Given the description of an element on the screen output the (x, y) to click on. 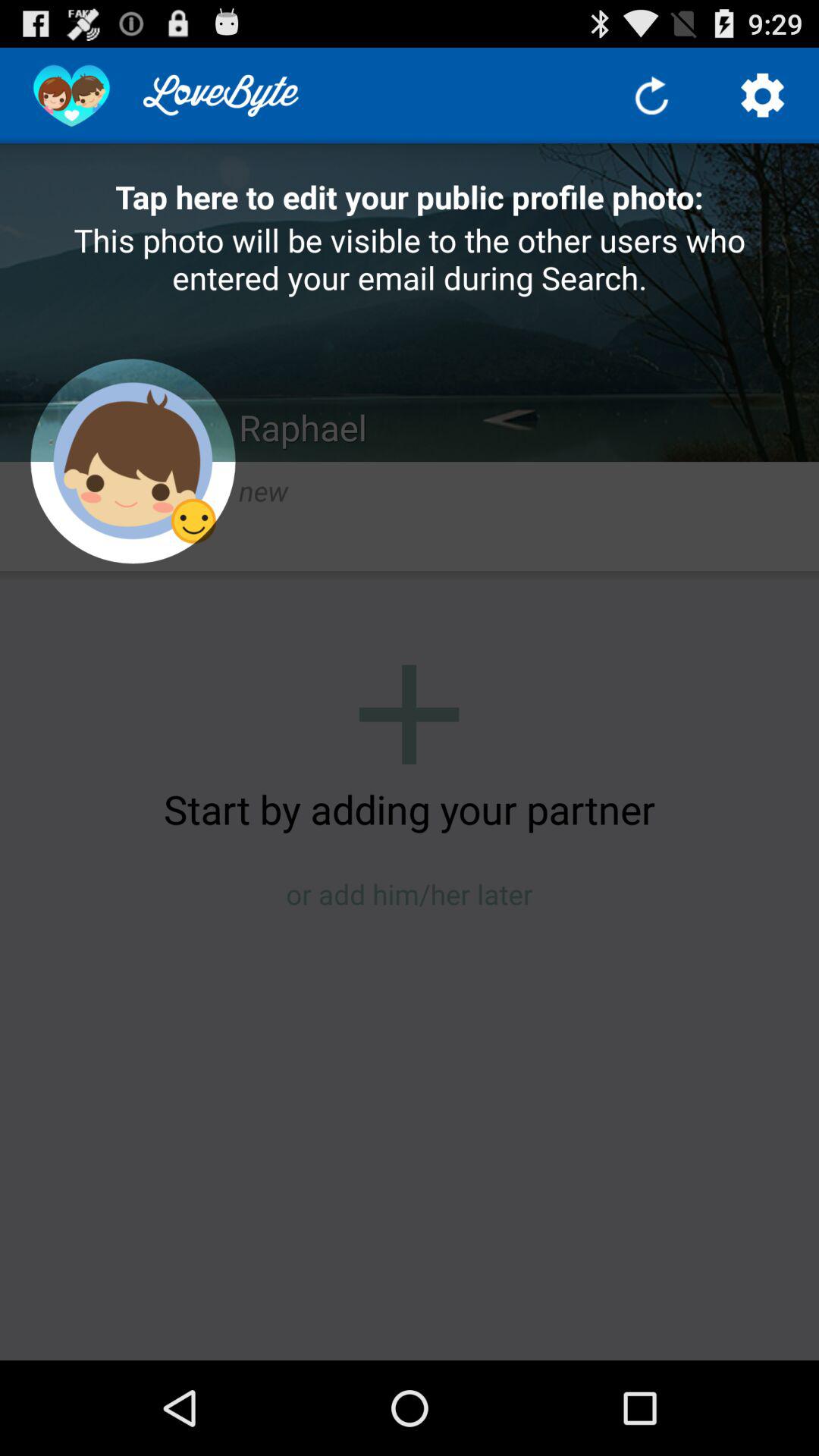
click refresh (651, 95)
